Given the description of an element on the screen output the (x, y) to click on. 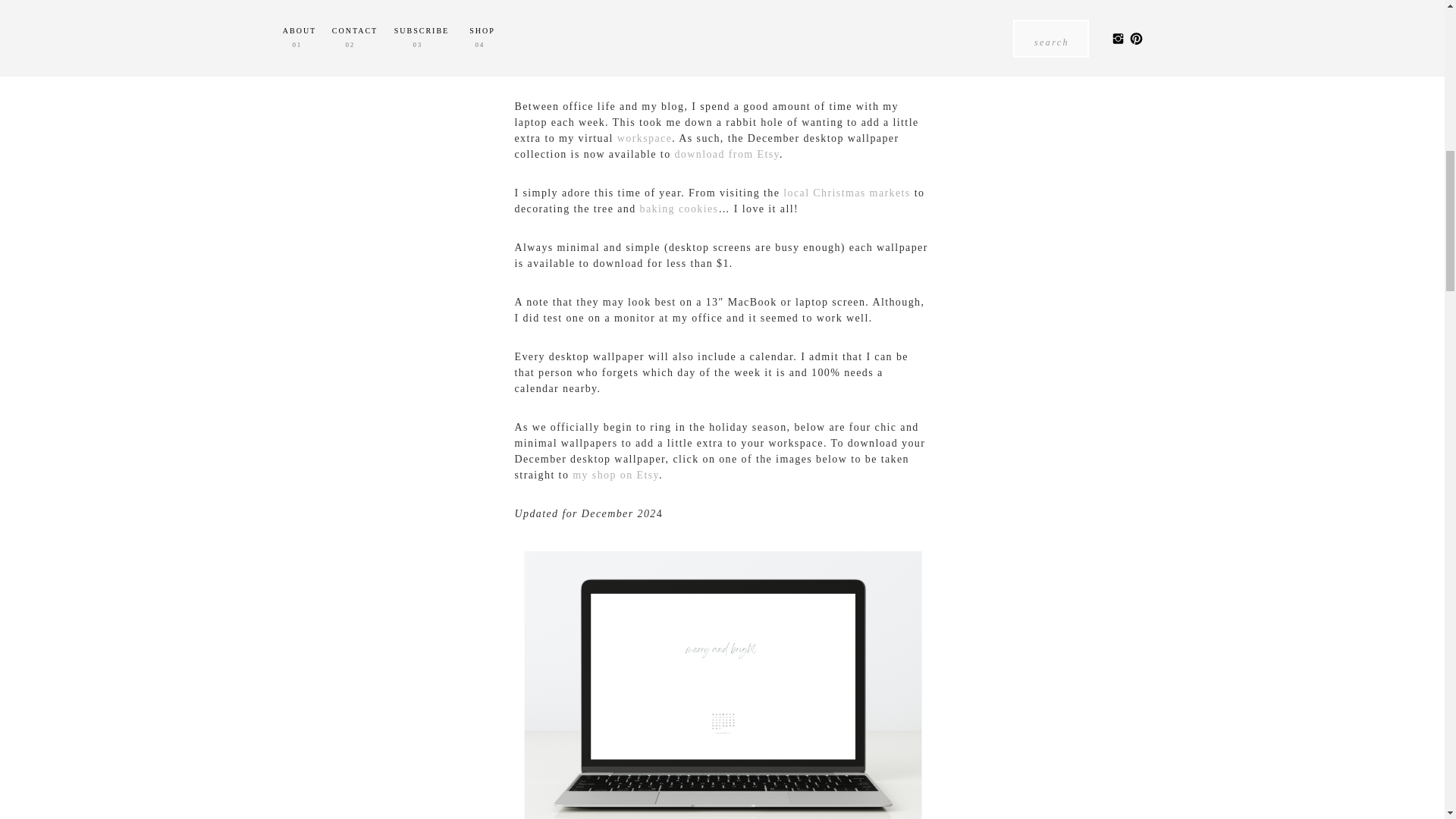
baking cookies (678, 208)
workspace (644, 138)
my shop on Etsy (615, 474)
download from Etsy (726, 153)
local Christmas markets (847, 193)
